Given the description of an element on the screen output the (x, y) to click on. 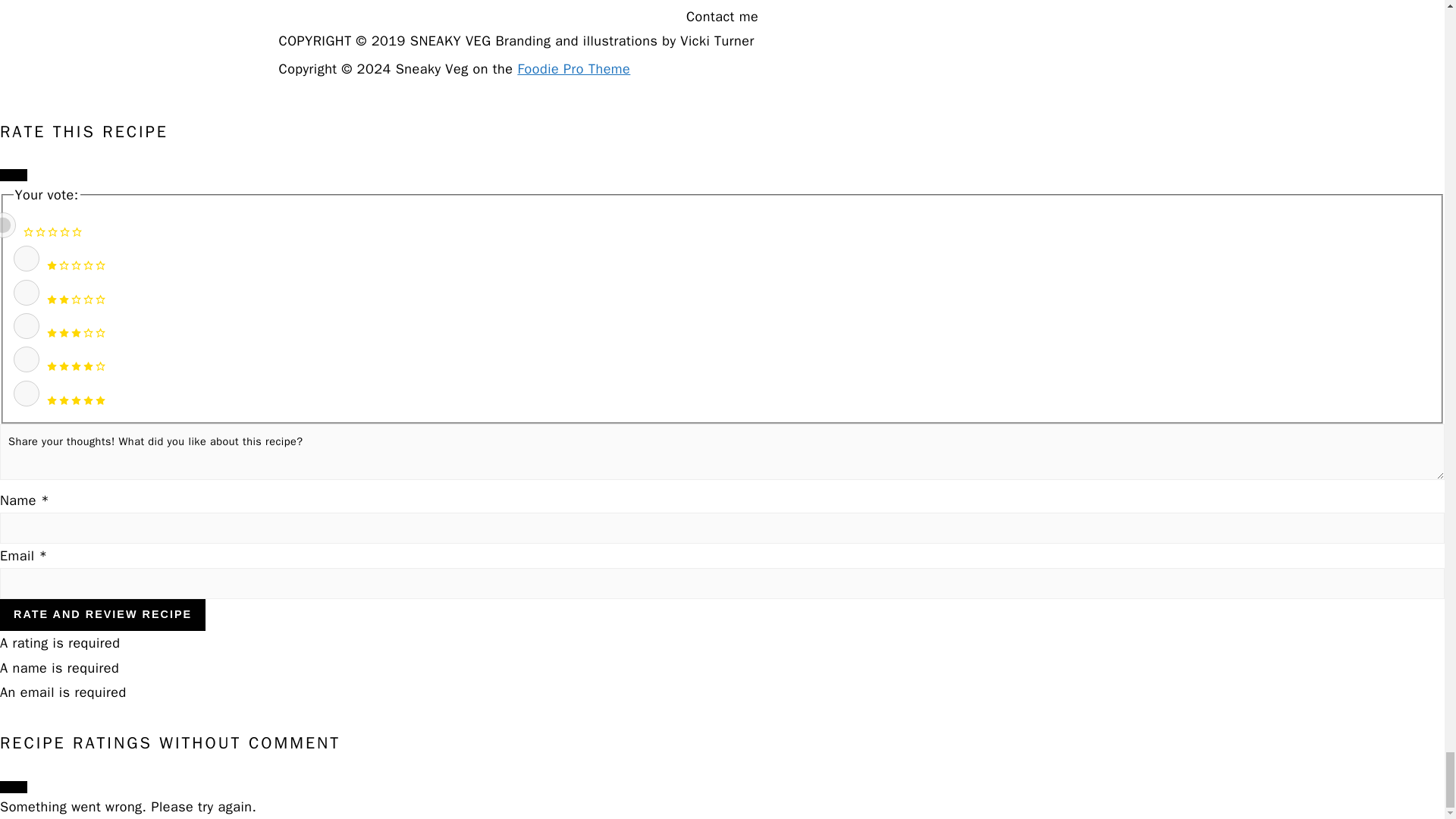
2 (26, 292)
1 (26, 258)
4 (26, 359)
5 (26, 393)
3 (26, 325)
